Given the description of an element on the screen output the (x, y) to click on. 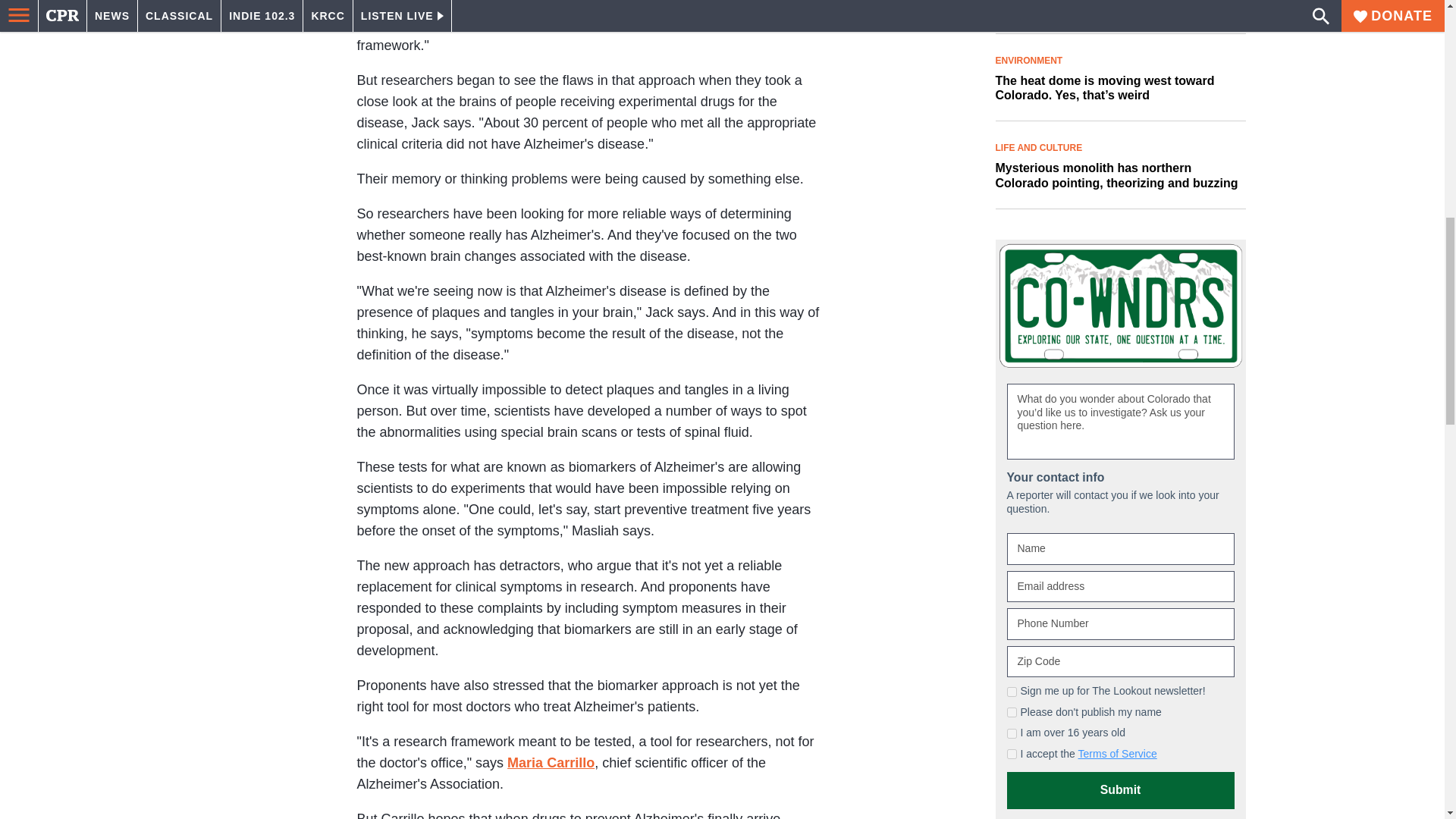
on (1011, 754)
on (1011, 691)
on (1011, 733)
on (1011, 712)
